Given the description of an element on the screen output the (x, y) to click on. 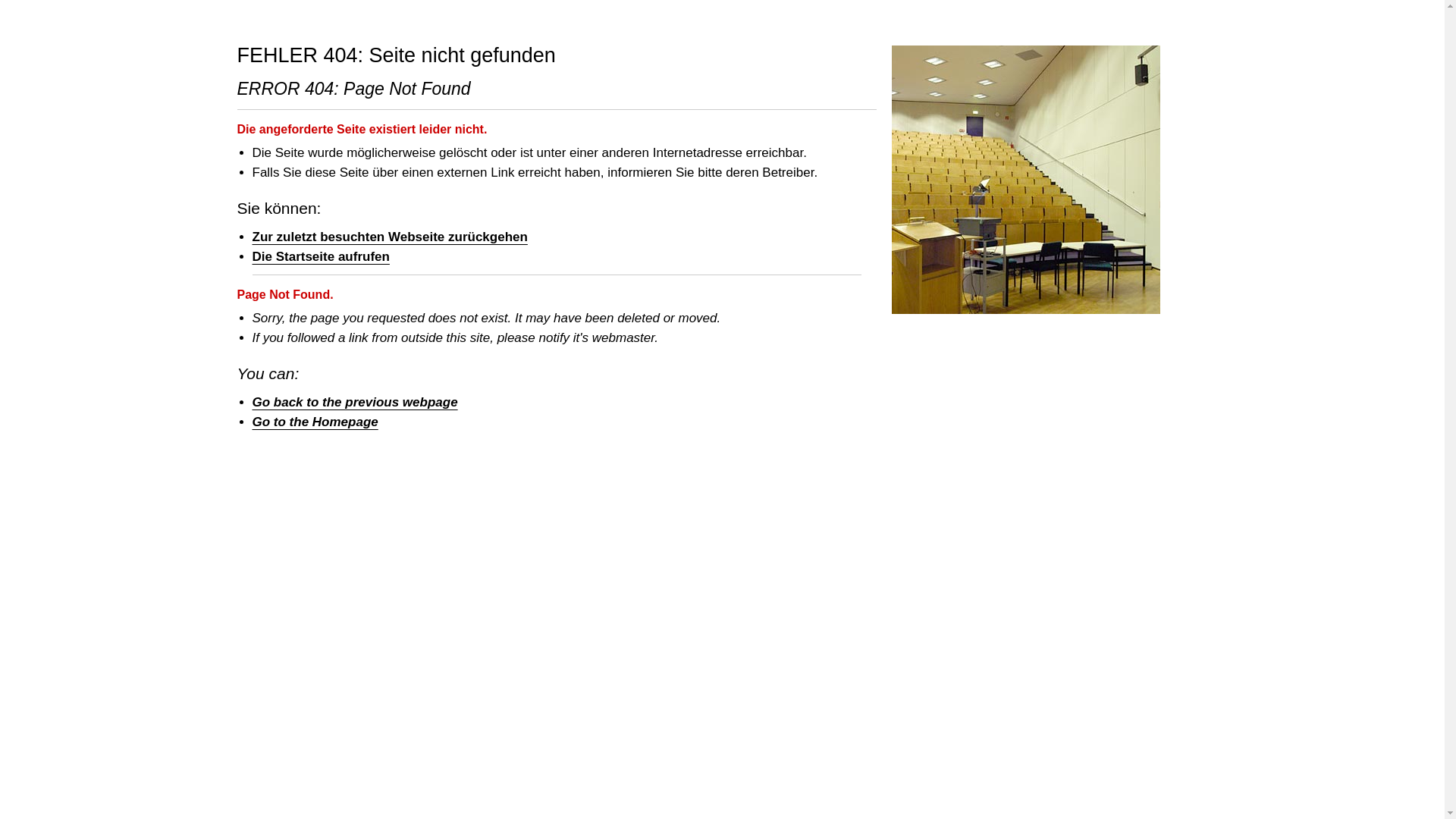
Die Startseite aufrufen (319, 255)
Go to the Homepage (314, 421)
Go back to the previous webpage (354, 401)
